Given the description of an element on the screen output the (x, y) to click on. 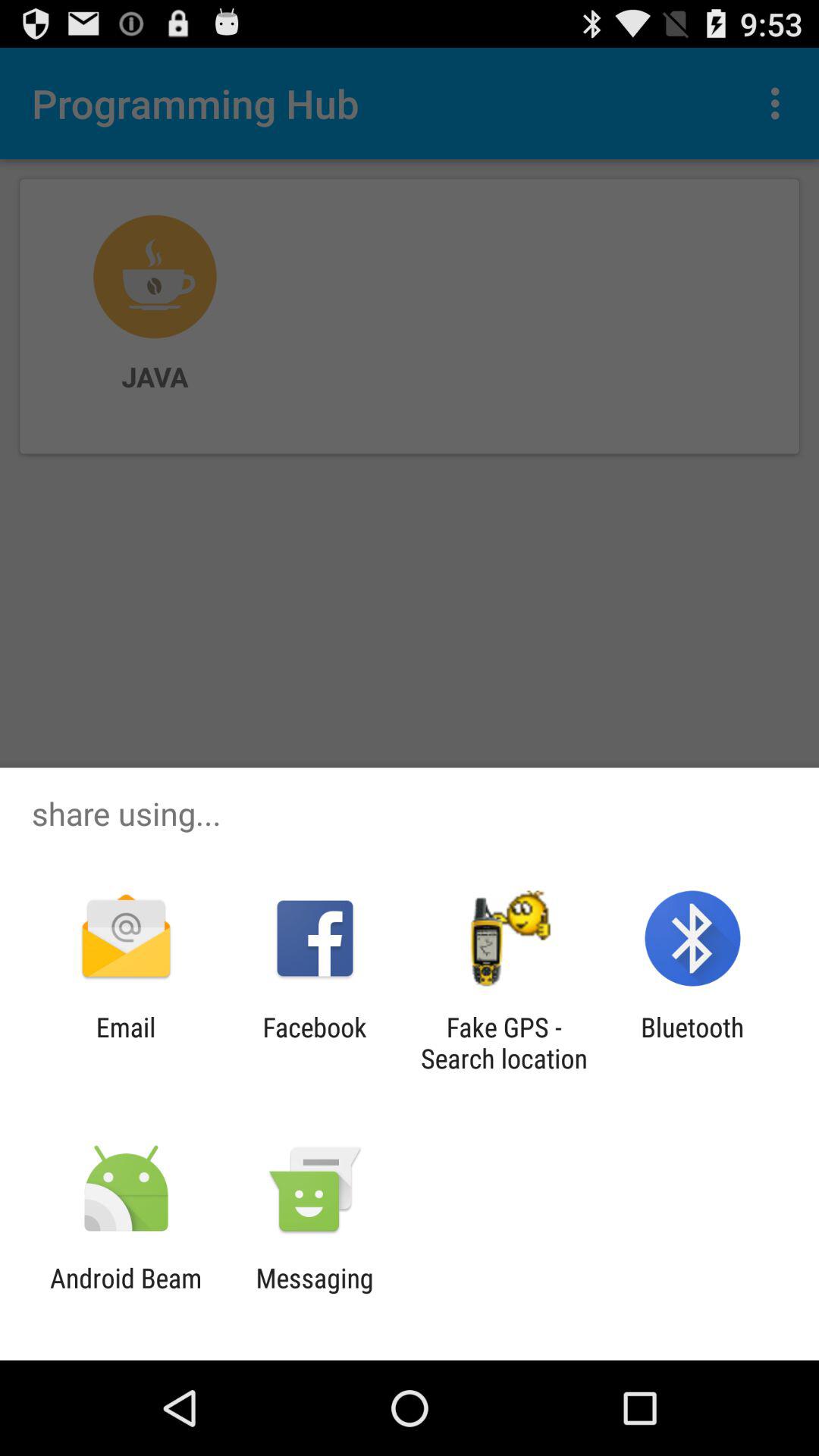
jump to the fake gps search app (503, 1042)
